Given the description of an element on the screen output the (x, y) to click on. 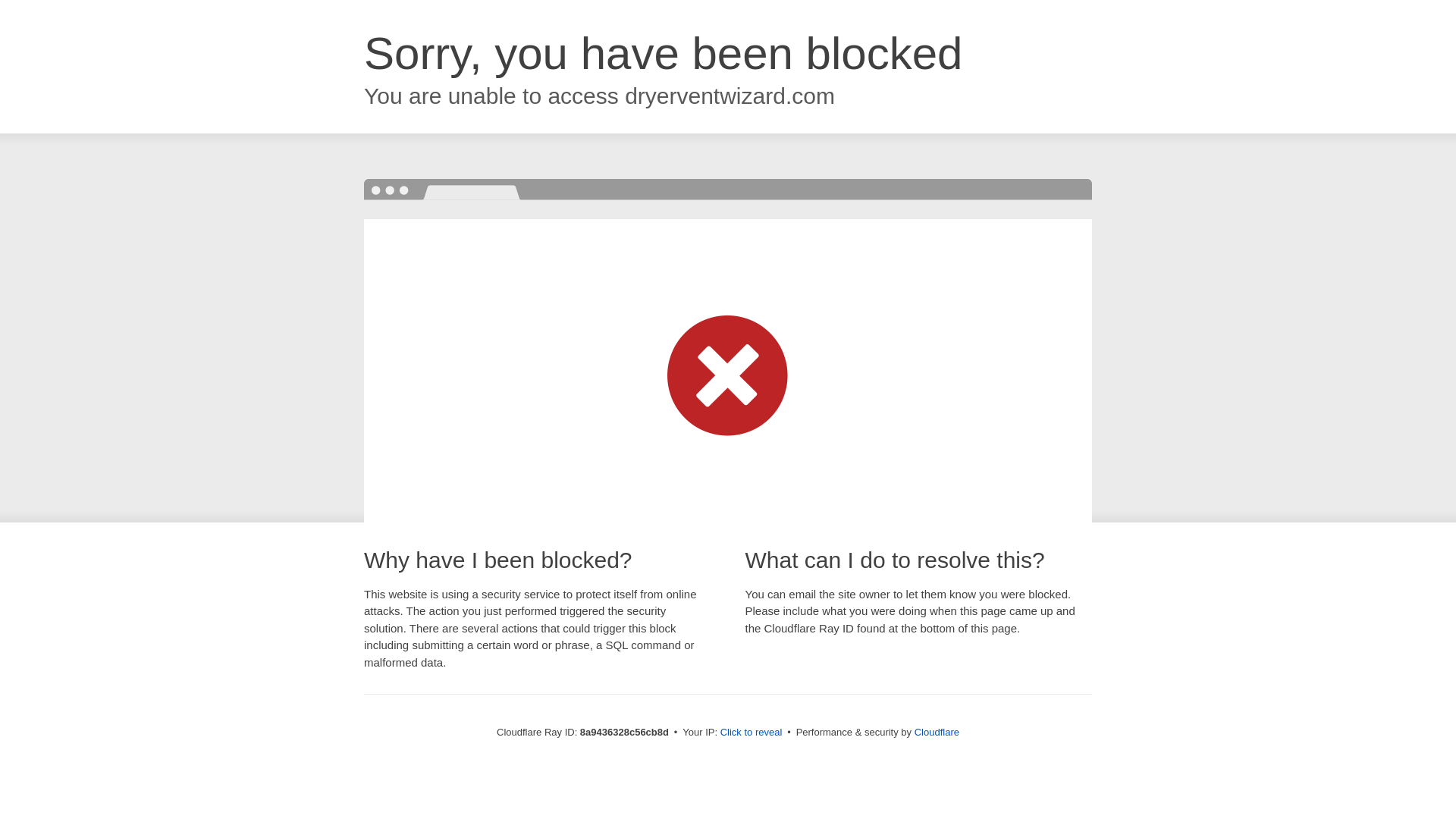
Cloudflare (936, 731)
Click to reveal (751, 732)
